Given the description of an element on the screen output the (x, y) to click on. 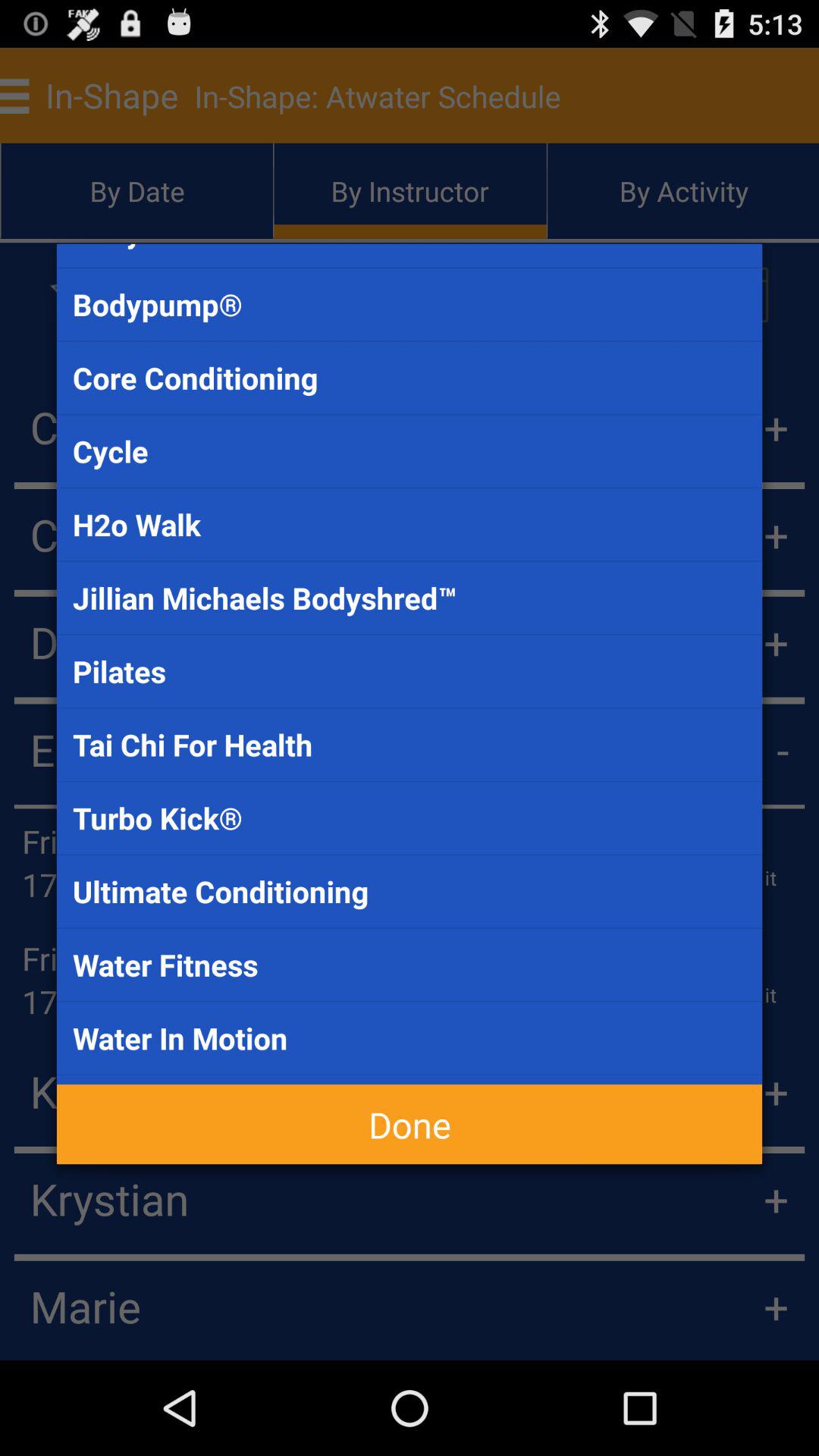
turn off the item below the cycle item (409, 524)
